Given the description of an element on the screen output the (x, y) to click on. 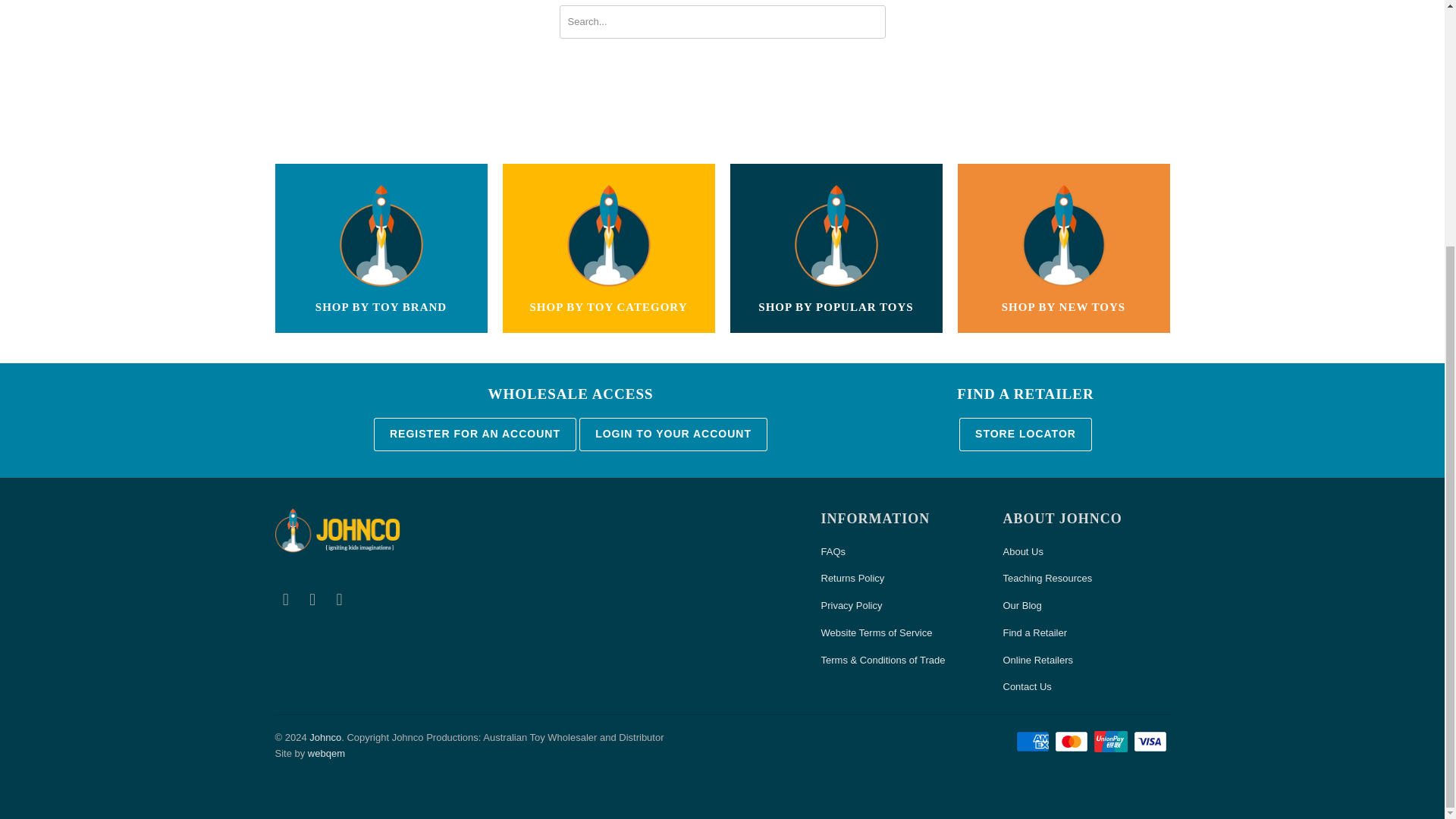
Johnco on Instagram (339, 599)
Mastercard (1072, 741)
Visa (1150, 741)
Johnco on Facebook (286, 599)
Union Pay (1112, 741)
Johnco on YouTube (312, 599)
American Express (1034, 741)
